Given the description of an element on the screen output the (x, y) to click on. 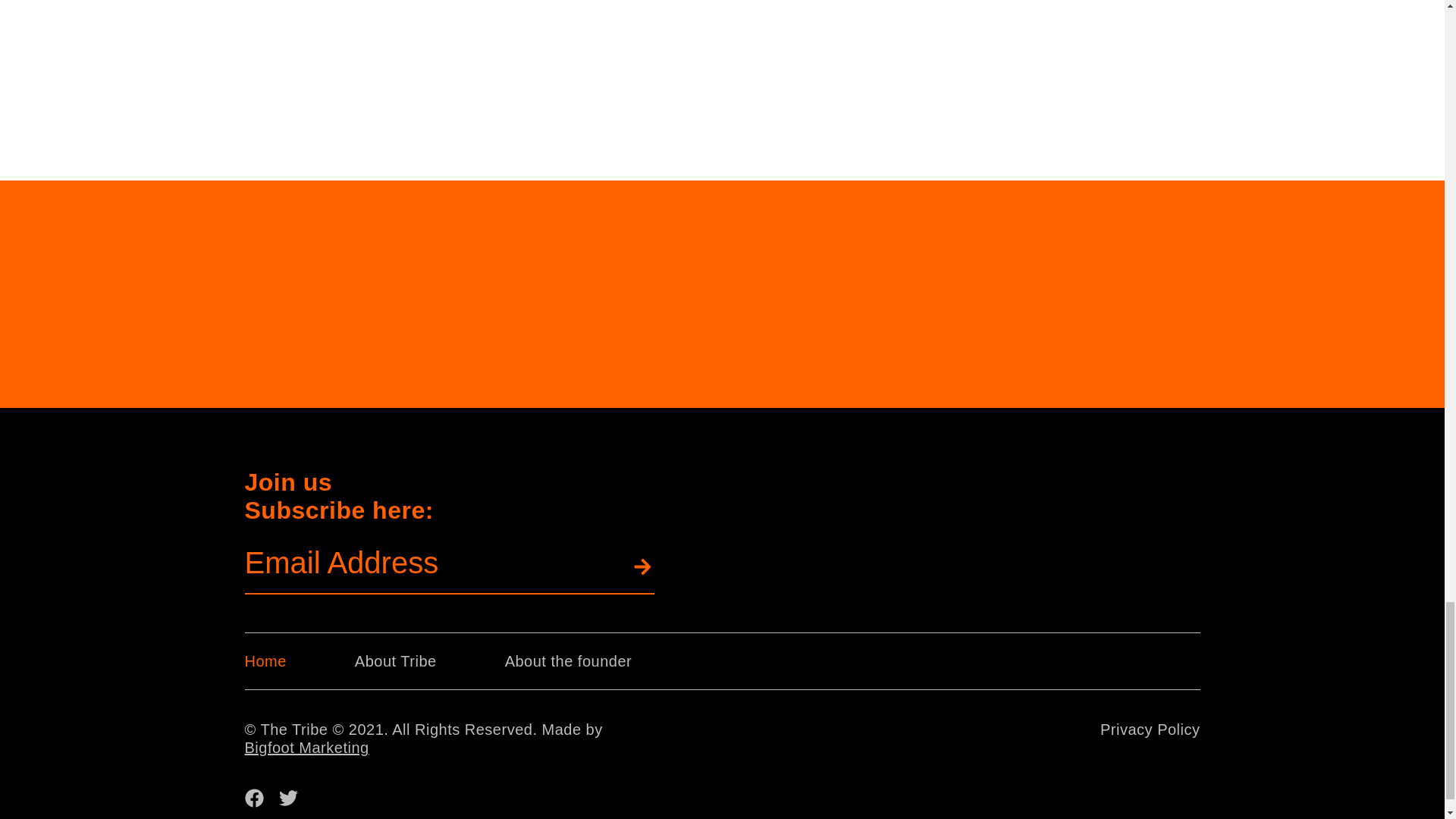
About the founder (568, 661)
About Tribe (395, 661)
Bigfoot Marketing (306, 747)
